Given the description of an element on the screen output the (x, y) to click on. 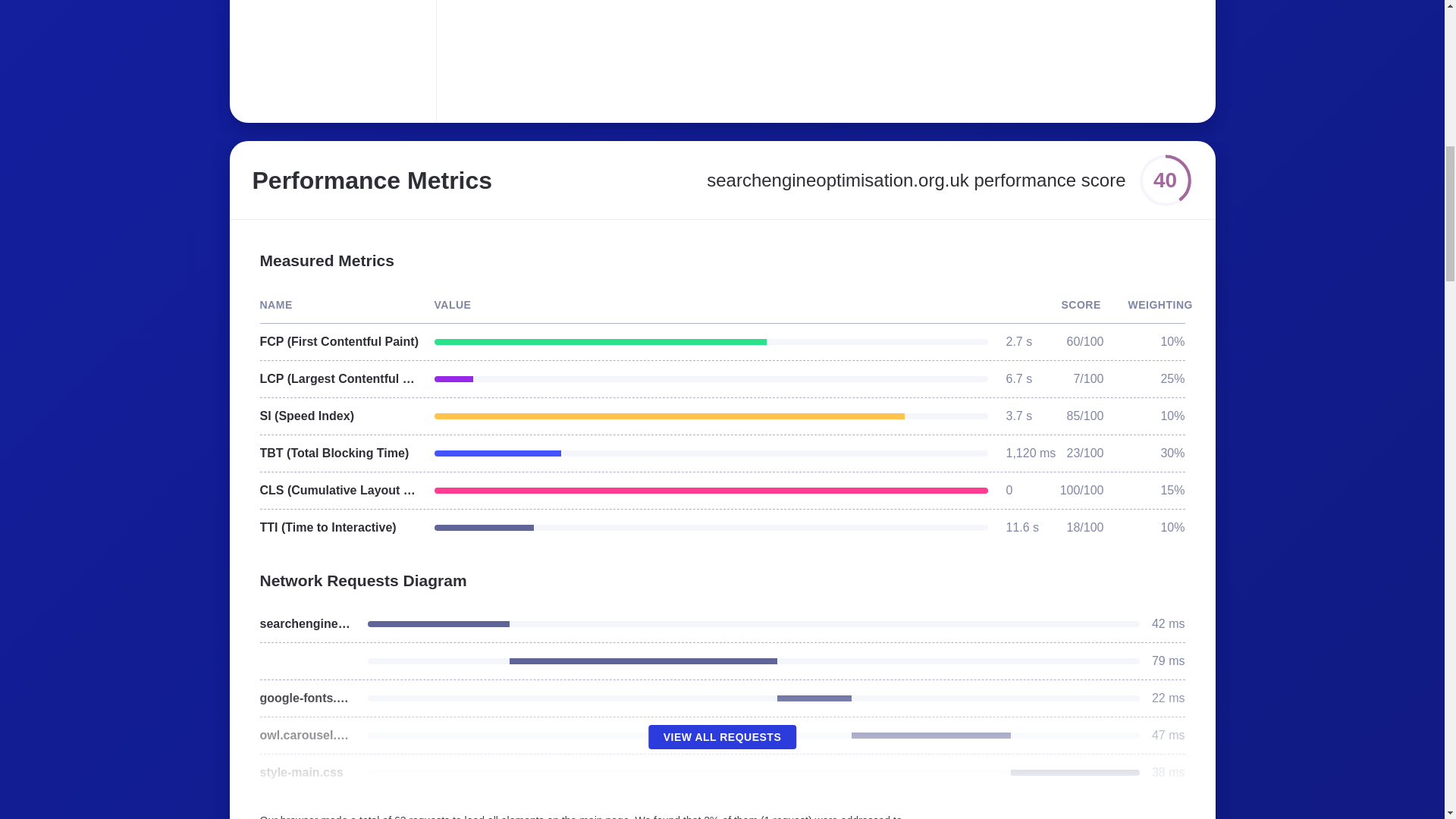
Advertisement (686, 52)
VIEW ALL REQUESTS (721, 736)
